Given the description of an element on the screen output the (x, y) to click on. 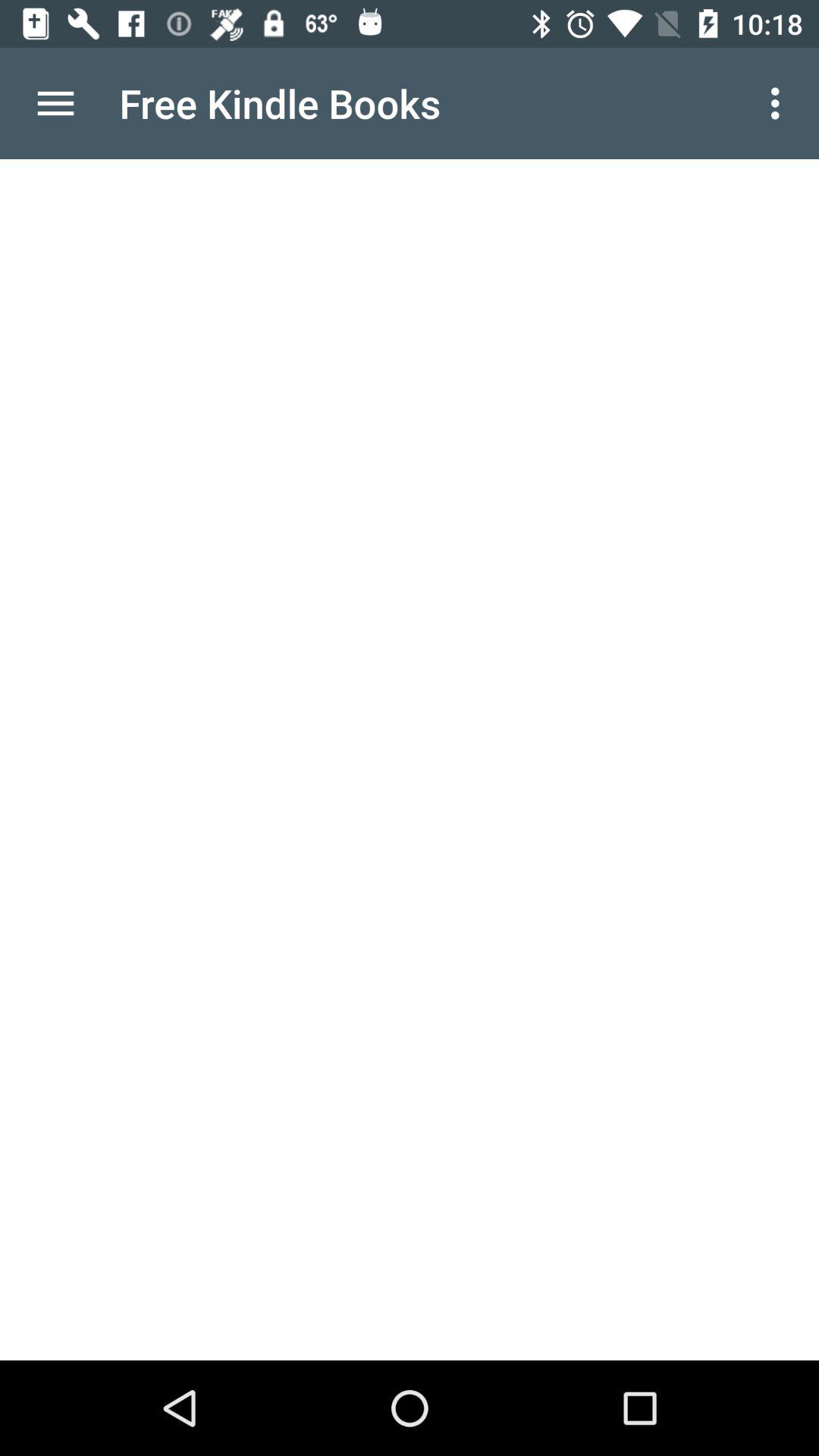
press icon next to the free kindle books (55, 103)
